Given the description of an element on the screen output the (x, y) to click on. 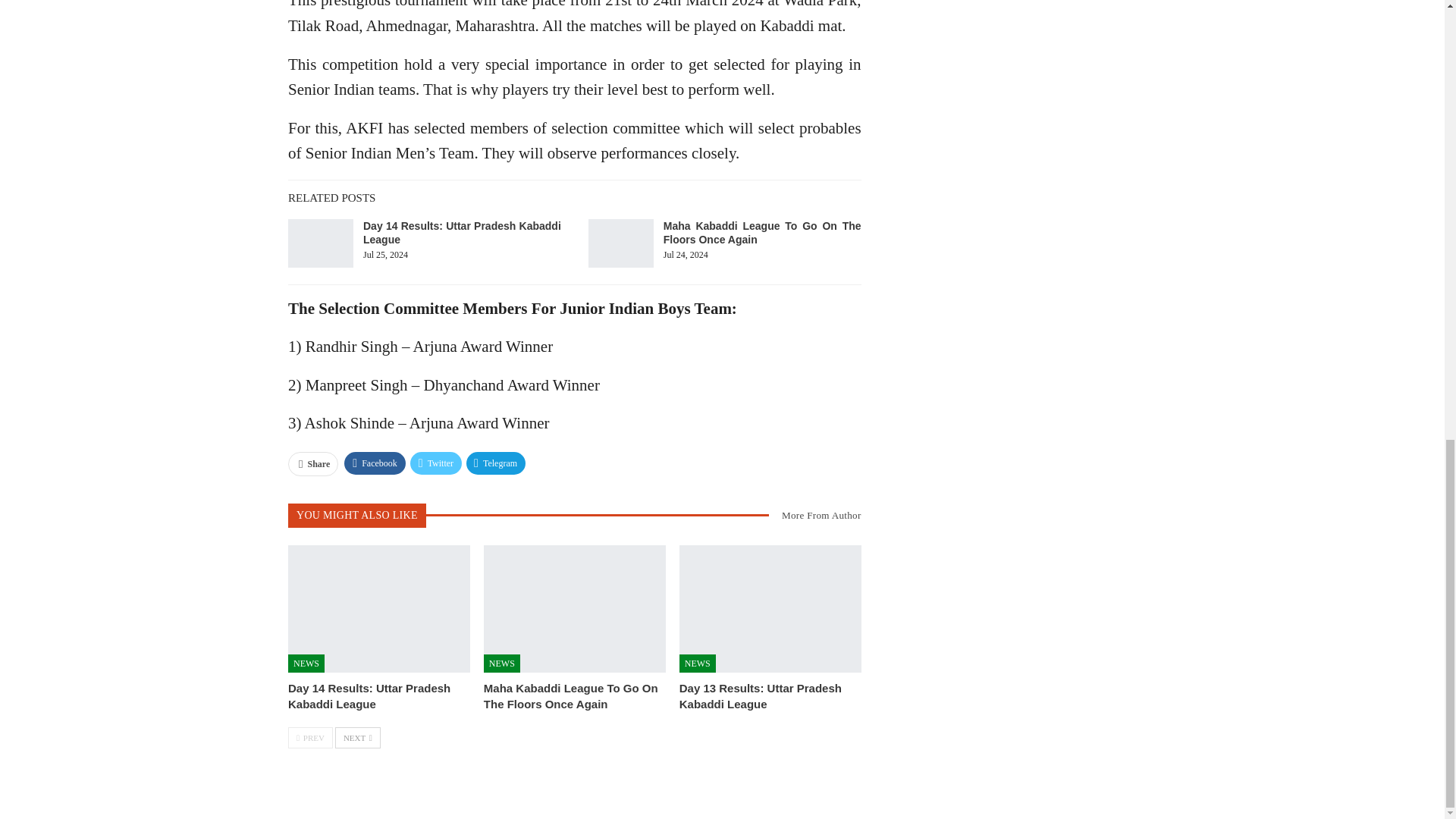
Telegram (495, 463)
Day 14 Results: Uttar Pradesh Kabaddi League (368, 695)
Day 14 Results: Uttar Pradesh Kabaddi League (461, 232)
Maha Kabaddi League To Go On The Floors Once Again (574, 608)
Maha Kabaddi League To Go On The Floors Once Again (620, 243)
NEWS (697, 663)
Previous (310, 737)
YOU MIGHT ALSO LIKE (357, 513)
Day 14 Results: Uttar Pradesh Kabaddi League (320, 243)
Day 13 Results: Uttar Pradesh Kabaddi League (770, 608)
NEWS (501, 663)
Maha Kabaddi League To Go On The Floors Once Again (762, 232)
Day 13 Results: Uttar Pradesh Kabaddi League (760, 695)
NEWS (306, 663)
Maha Kabaddi League To Go On The Floors Once Again (570, 695)
